Given the description of an element on the screen output the (x, y) to click on. 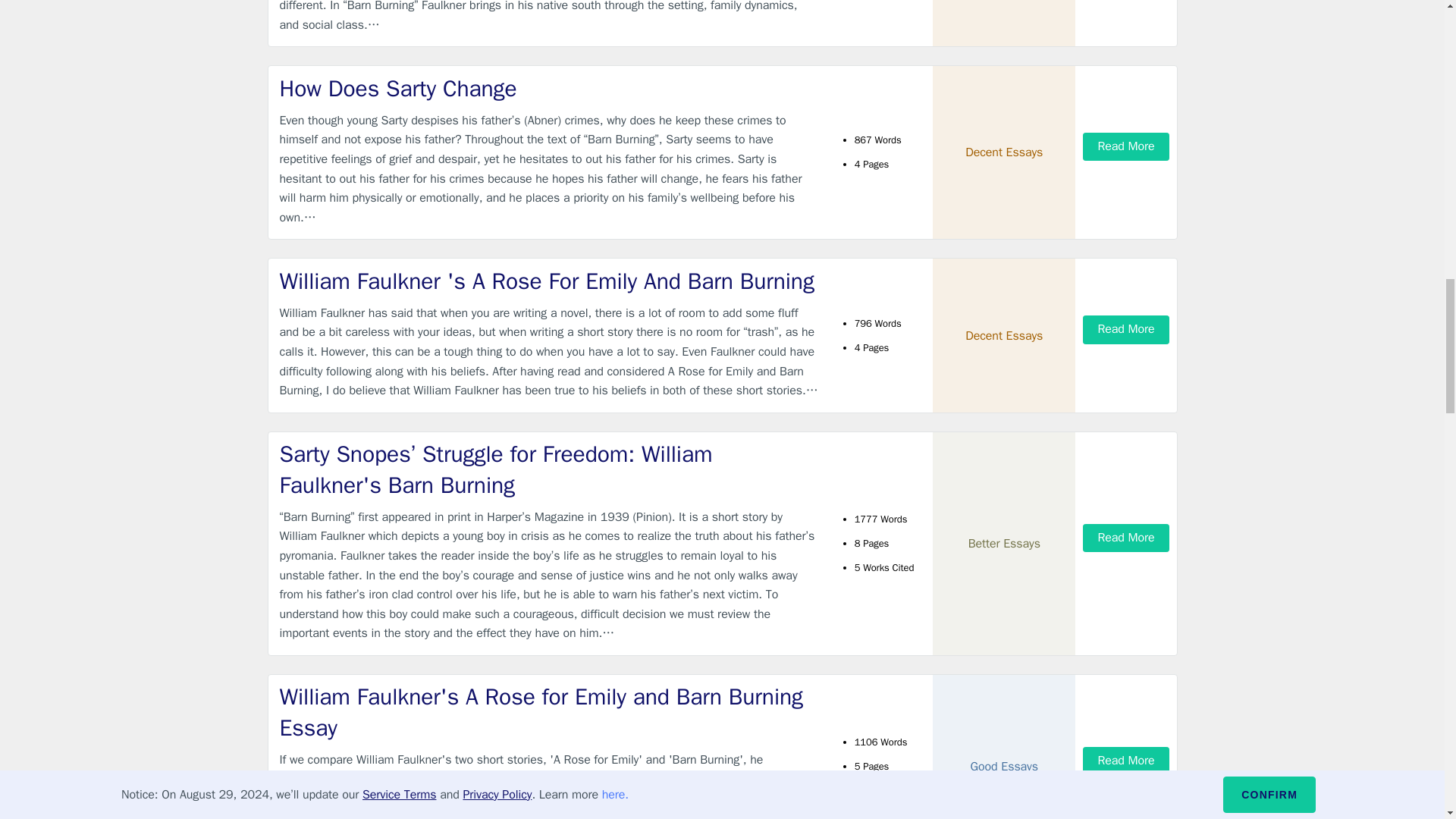
William Faulkner's A Rose for Emily and Barn Burning Essay (548, 711)
Read More (1126, 329)
Read More (1126, 146)
Read More (1126, 538)
William Faulkner 's A Rose For Emily And Barn Burning (548, 281)
Read More (1126, 760)
How Does Sarty Change (548, 88)
